Given the description of an element on the screen output the (x, y) to click on. 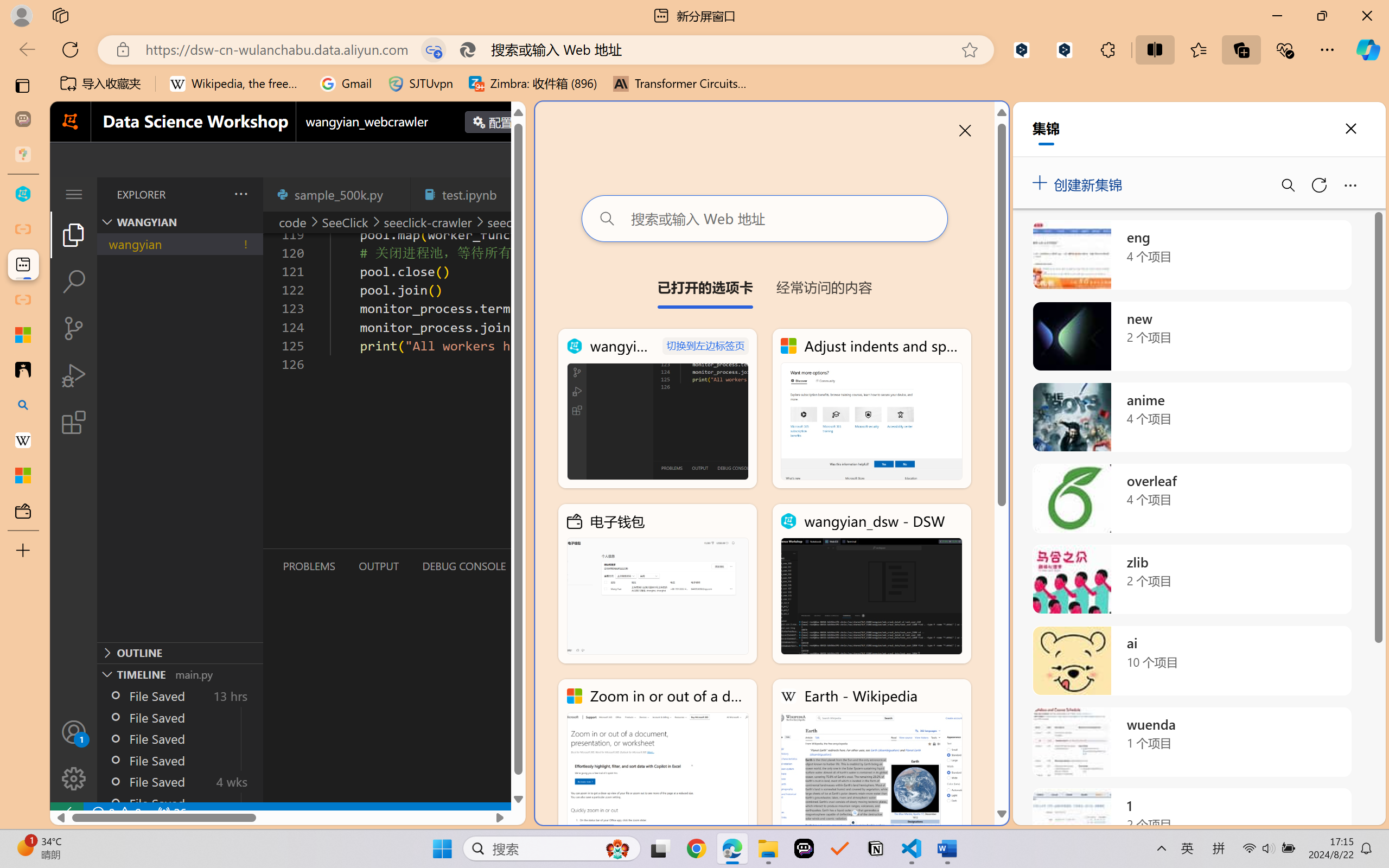
test.ipynb (468, 194)
Wikipedia, the free encyclopedia (236, 83)
Debug Console (Ctrl+Shift+Y) (463, 565)
